Given the description of an element on the screen output the (x, y) to click on. 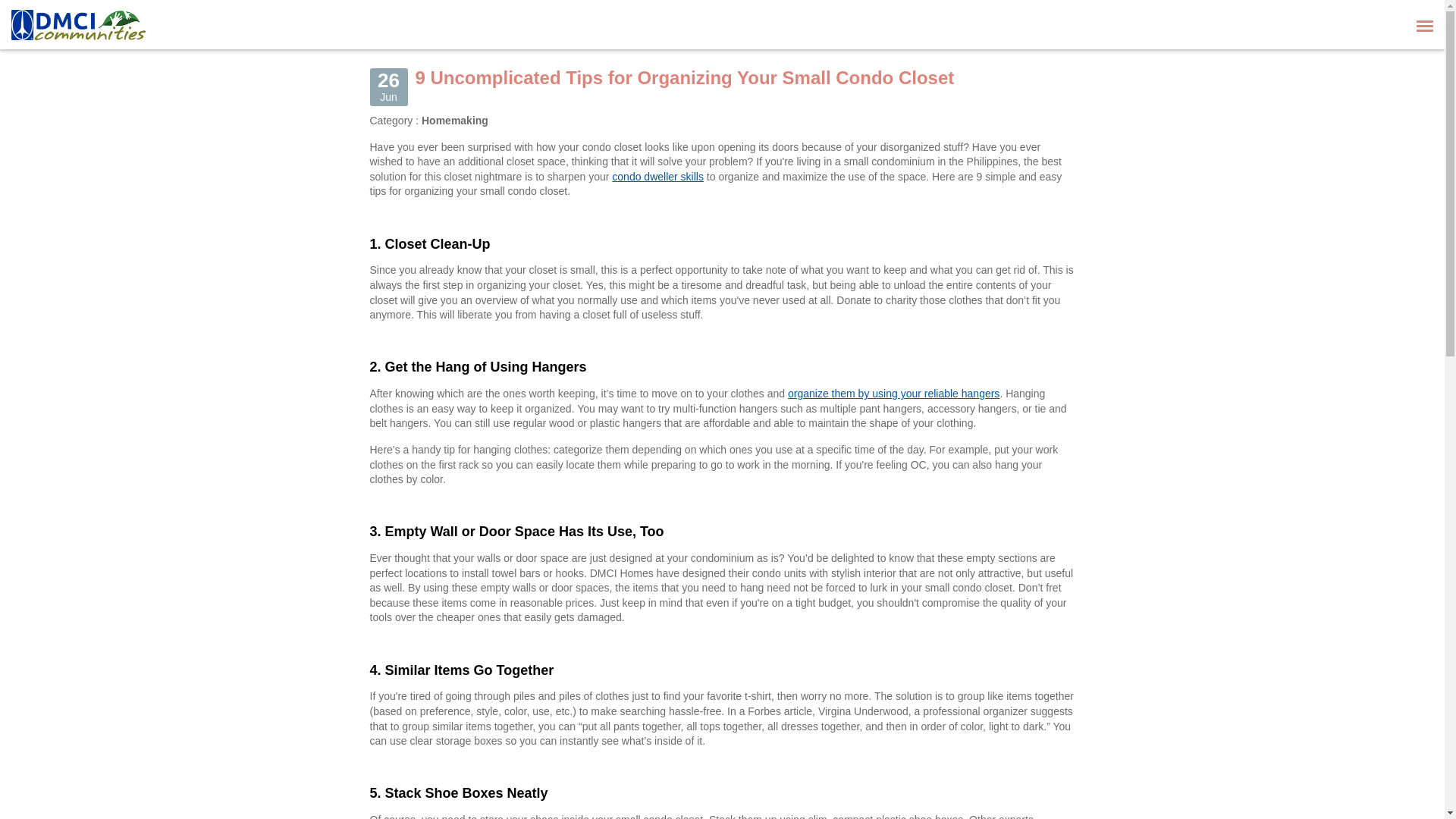
organize them by using your reliable hangers (892, 393)
Toggle Sidebar (1425, 24)
Homemaking (454, 120)
condo dweller skills (657, 176)
